Given the description of an element on the screen output the (x, y) to click on. 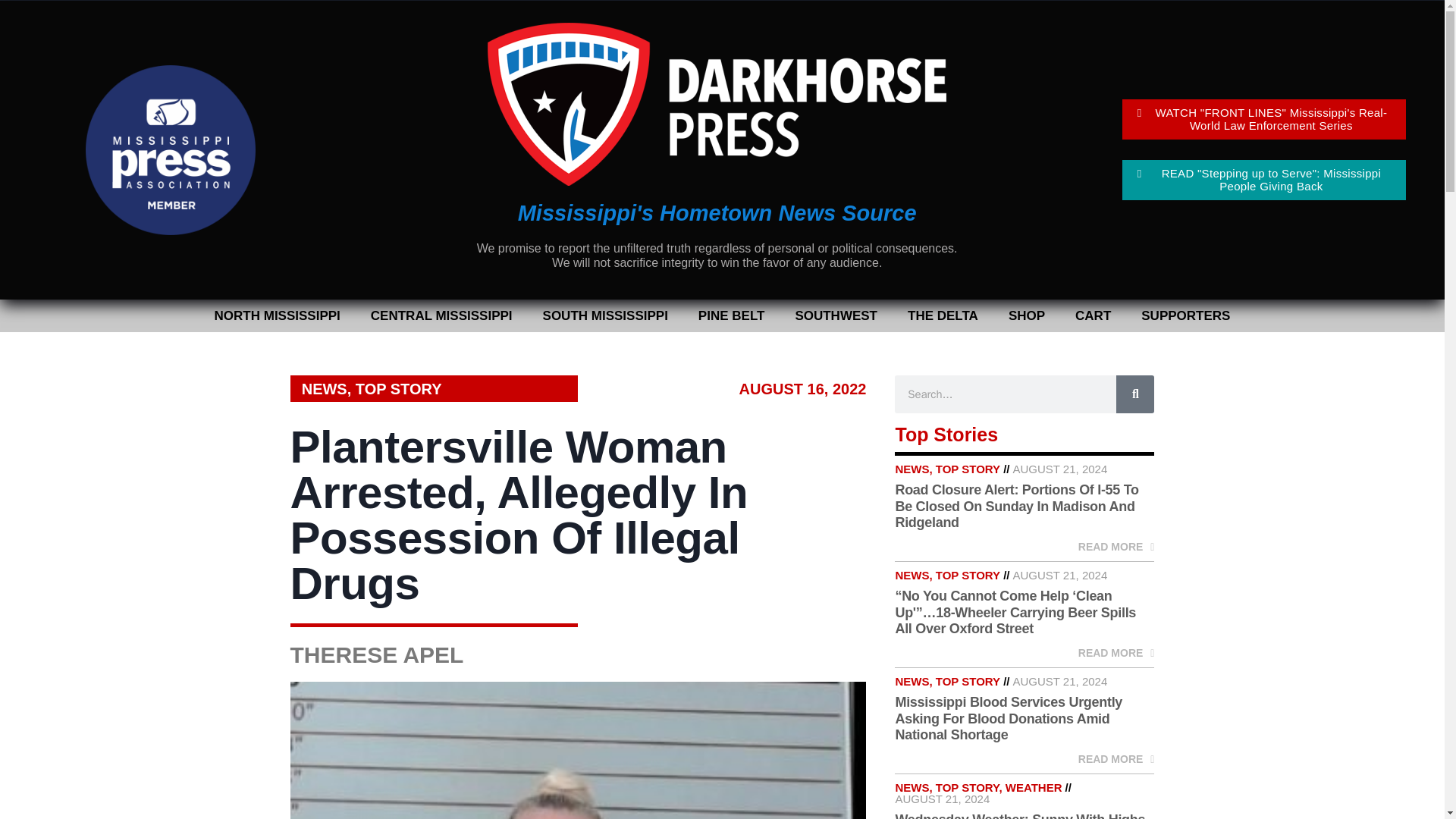
READ "Stepping up to Serve": Mississippi People Giving Back (1264, 179)
NEWS (324, 388)
TOP STORY (398, 388)
THE DELTA (942, 315)
NORTH MISSISSIPPI (277, 315)
SUPPORTERS (1184, 315)
SOUTH MISSISSIPPI (604, 315)
PINE BELT (731, 315)
SHOP (1025, 315)
CENTRAL MISSISSIPPI (441, 315)
